Given the description of an element on the screen output the (x, y) to click on. 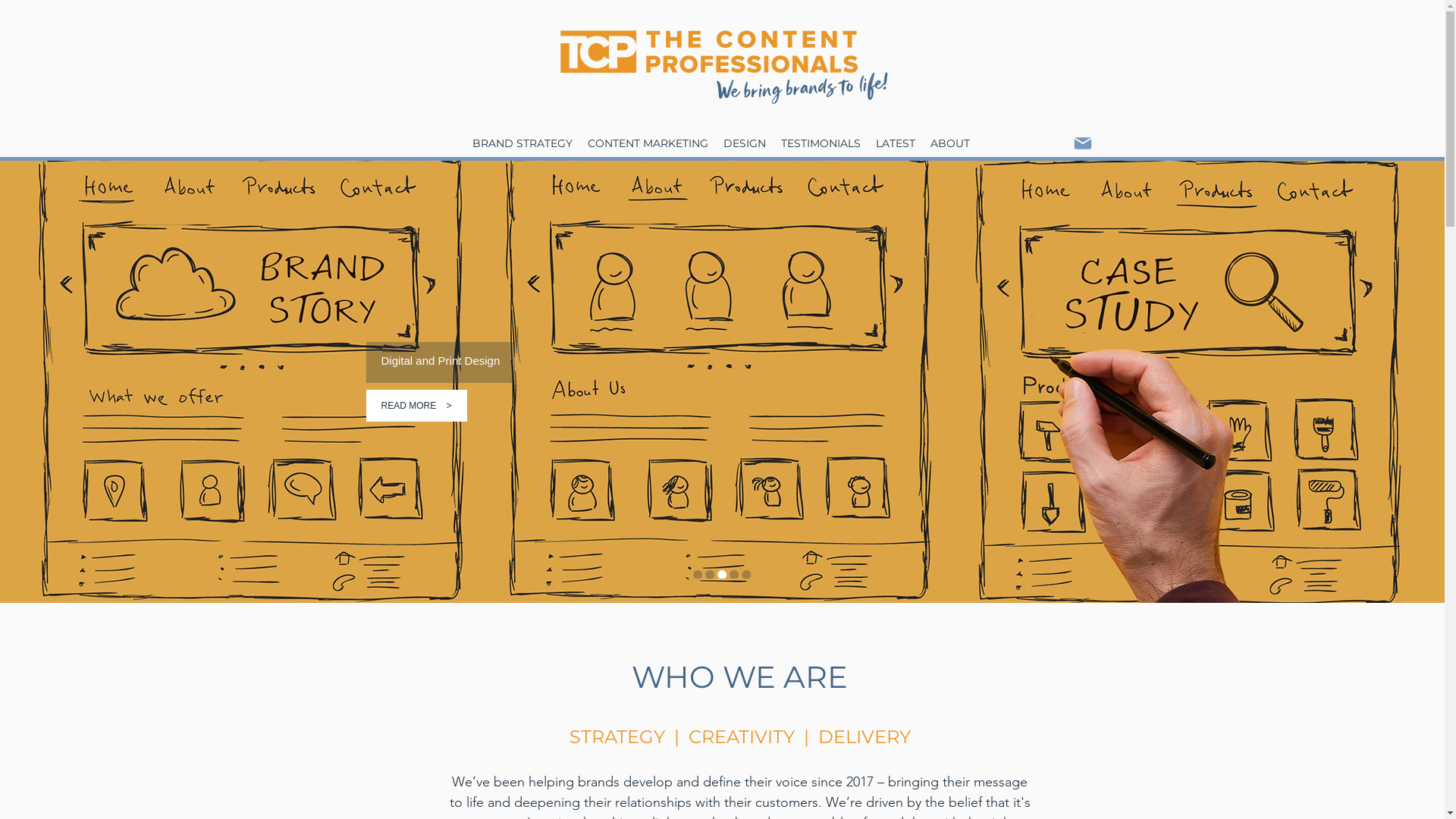
TESTIMONIALS Element type: text (820, 143)
DESIGN Element type: text (744, 143)
BRAND STRATEGY Element type: text (521, 143)
ABOUT Element type: text (949, 143)
LATEST Element type: text (894, 143)
CONTENT MARKETING Element type: text (647, 143)
